Given the description of an element on the screen output the (x, y) to click on. 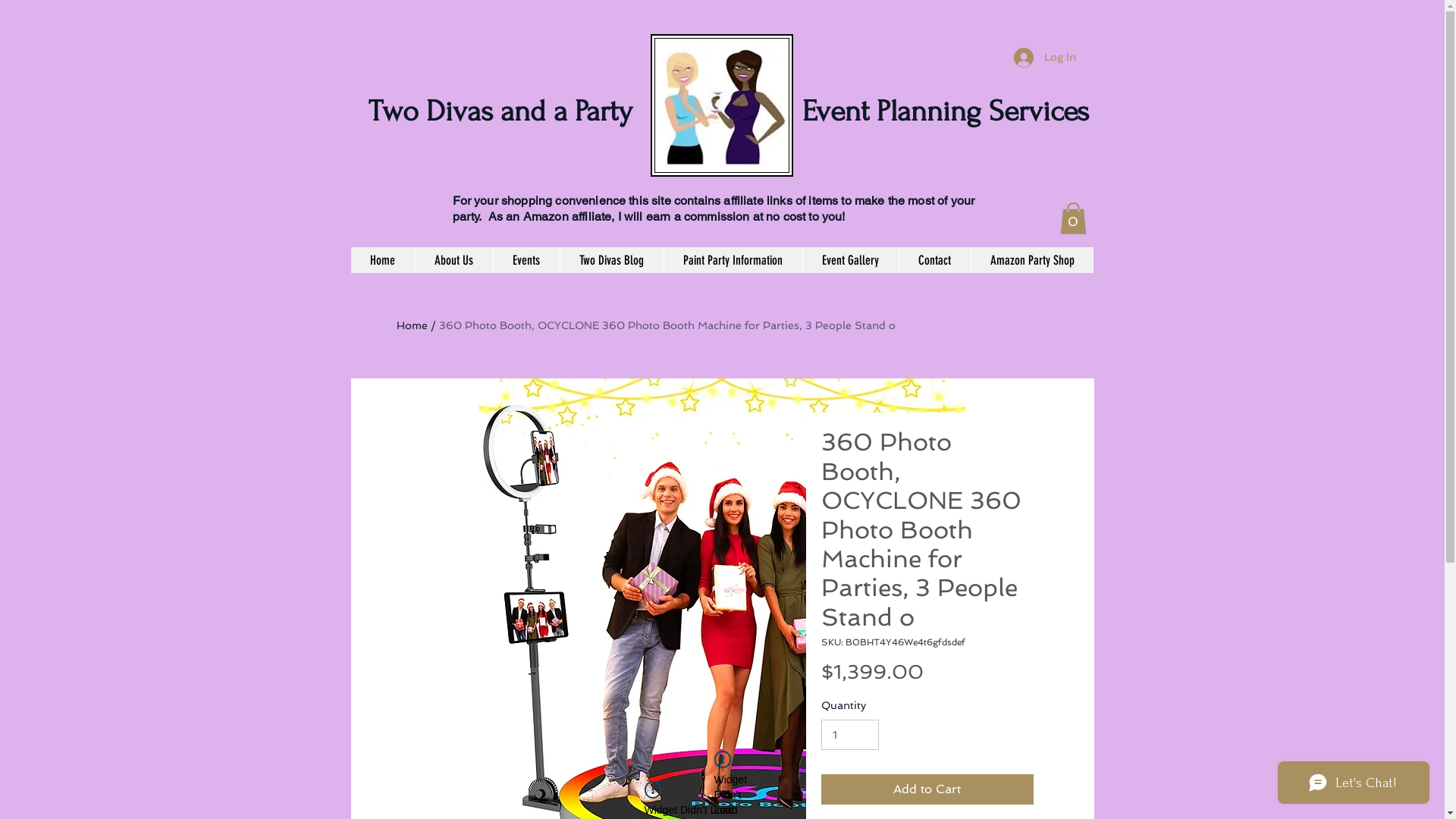
0 Element type: text (1073, 218)
Home Element type: text (410, 325)
Amazon Party Shop Element type: text (1031, 260)
Events Element type: text (525, 260)
Contact Element type: text (933, 260)
Two Divas Blog Element type: text (611, 260)
Log In Element type: text (1043, 57)
Paint Party Information Element type: text (731, 260)
Home Element type: text (382, 260)
Event Gallery Element type: text (850, 260)
Add to Cart Element type: text (926, 789)
About Us Element type: text (453, 260)
